Given the description of an element on the screen output the (x, y) to click on. 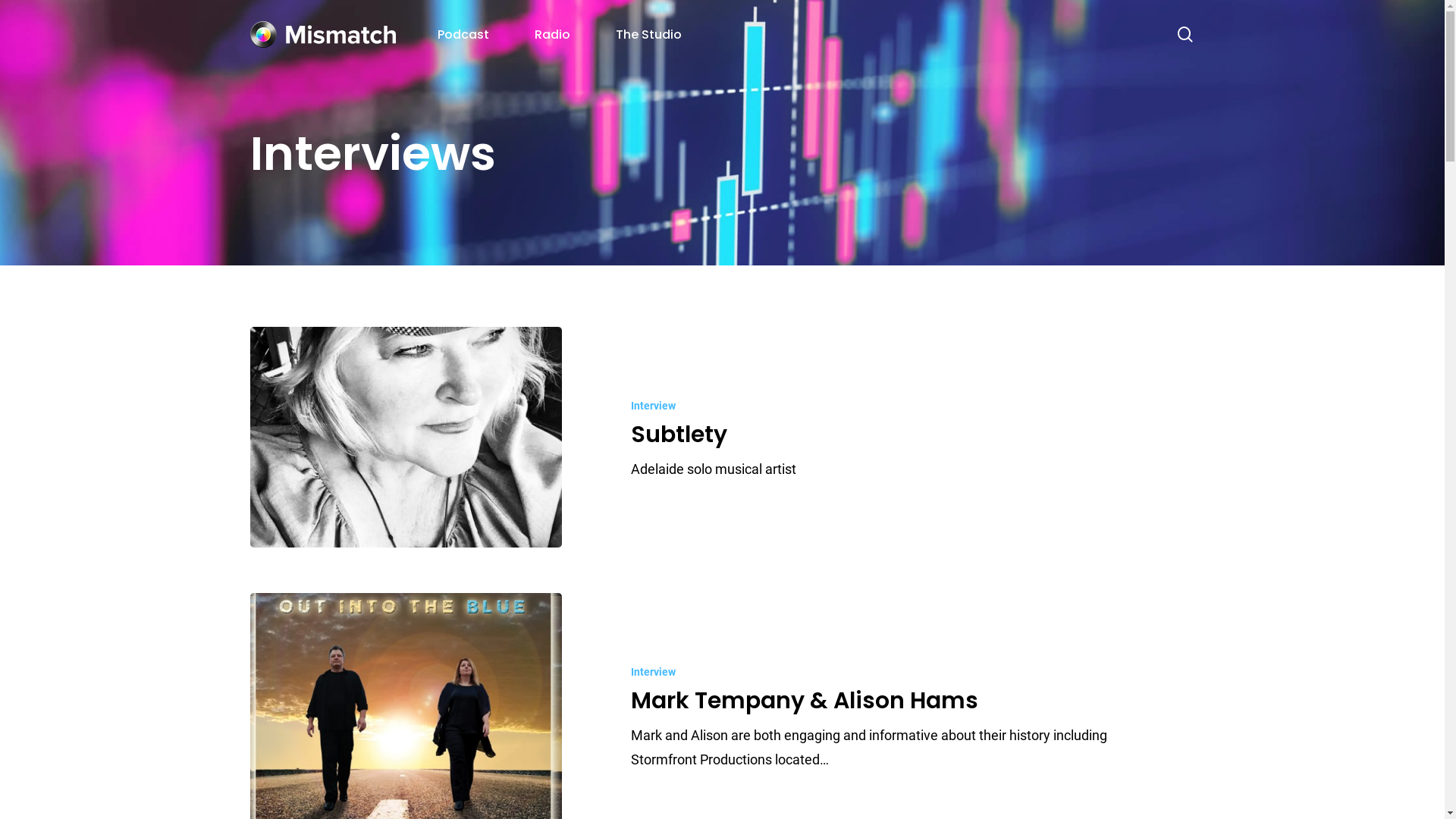
Radio Element type: text (552, 34)
search Element type: text (1185, 34)
Subtlety Element type: text (678, 434)
The Studio Element type: text (648, 34)
Mark Tempany & Alison Hams Element type: text (804, 700)
Interview Element type: text (652, 405)
Interview Element type: text (652, 672)
Podcast Element type: text (462, 34)
